Given the description of an element on the screen output the (x, y) to click on. 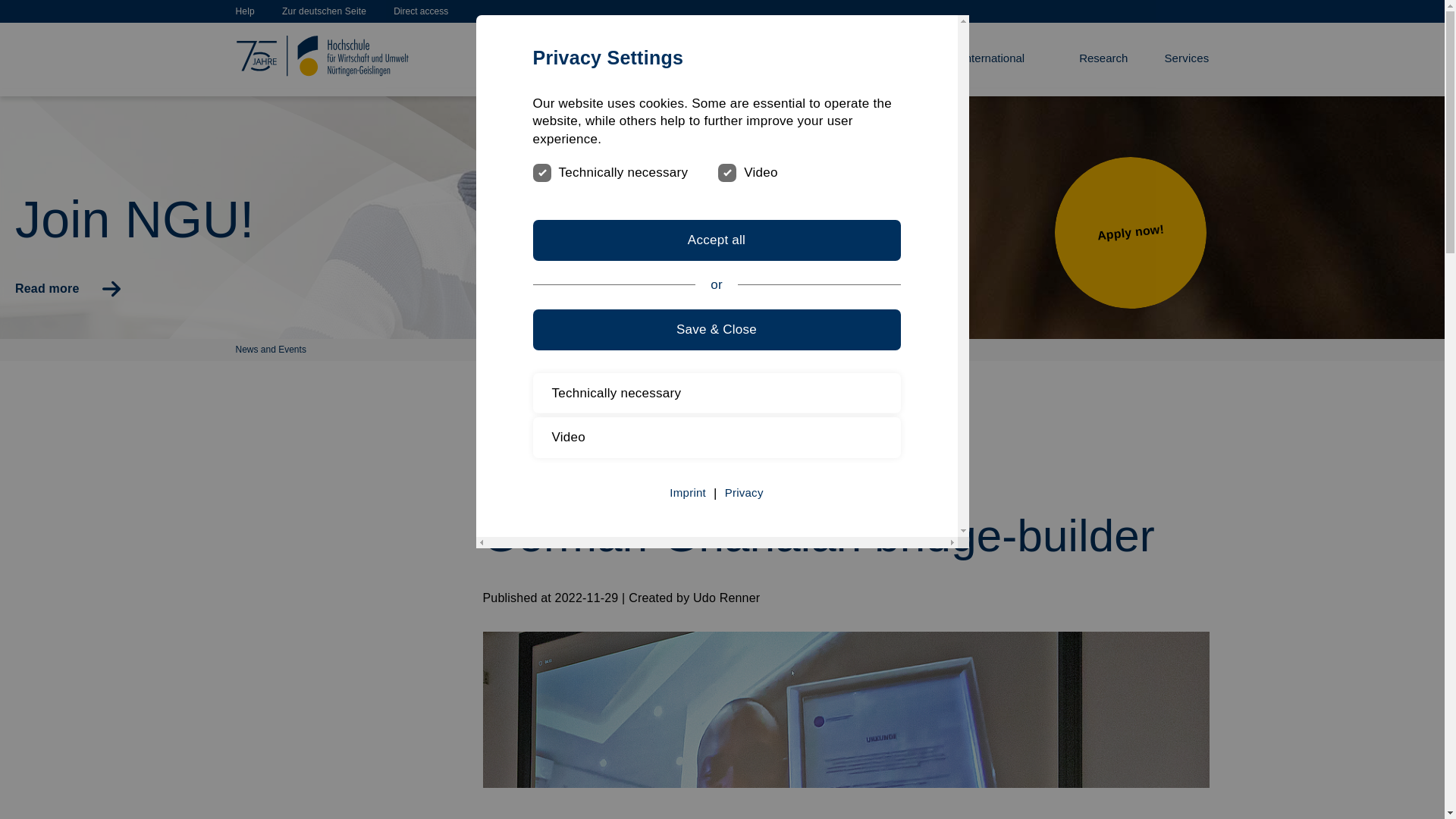
essential (539, 171)
Zur deutschen Seite (324, 10)
Help (243, 10)
About Us (623, 58)
Open search (1199, 11)
video (725, 171)
Scroll to content (12, 12)
Direct access (420, 10)
